Given the description of an element on the screen output the (x, y) to click on. 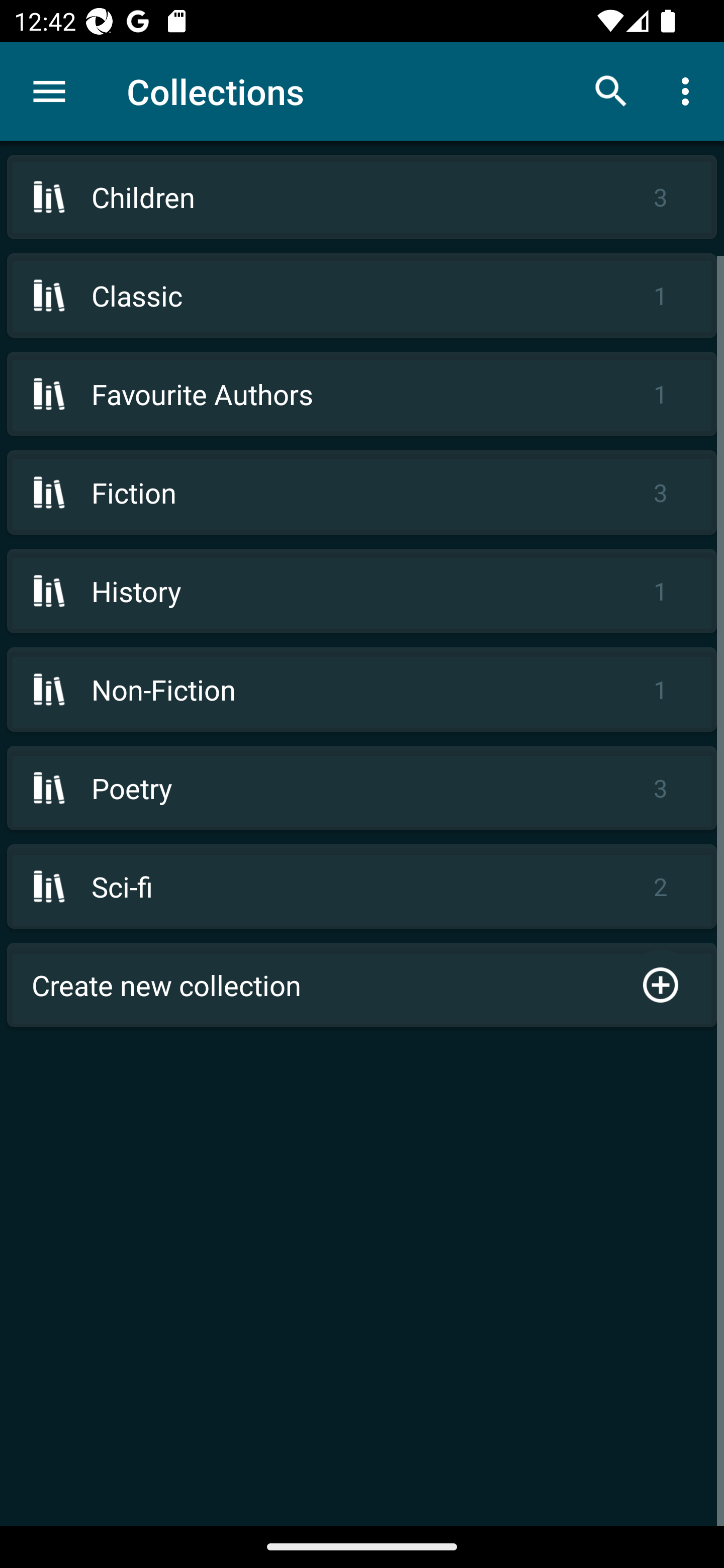
Menu (49, 91)
Search books & documents (611, 90)
More options (688, 90)
Children 3 (361, 197)
Classic 1 (361, 295)
Favourite Authors 1 (361, 393)
Fiction 3 (361, 492)
History 1 (361, 590)
Non-Fiction 1 (361, 689)
Poetry 3 (361, 787)
Sci-fi 2 (361, 885)
Create new collection (361, 984)
